Given the description of an element on the screen output the (x, y) to click on. 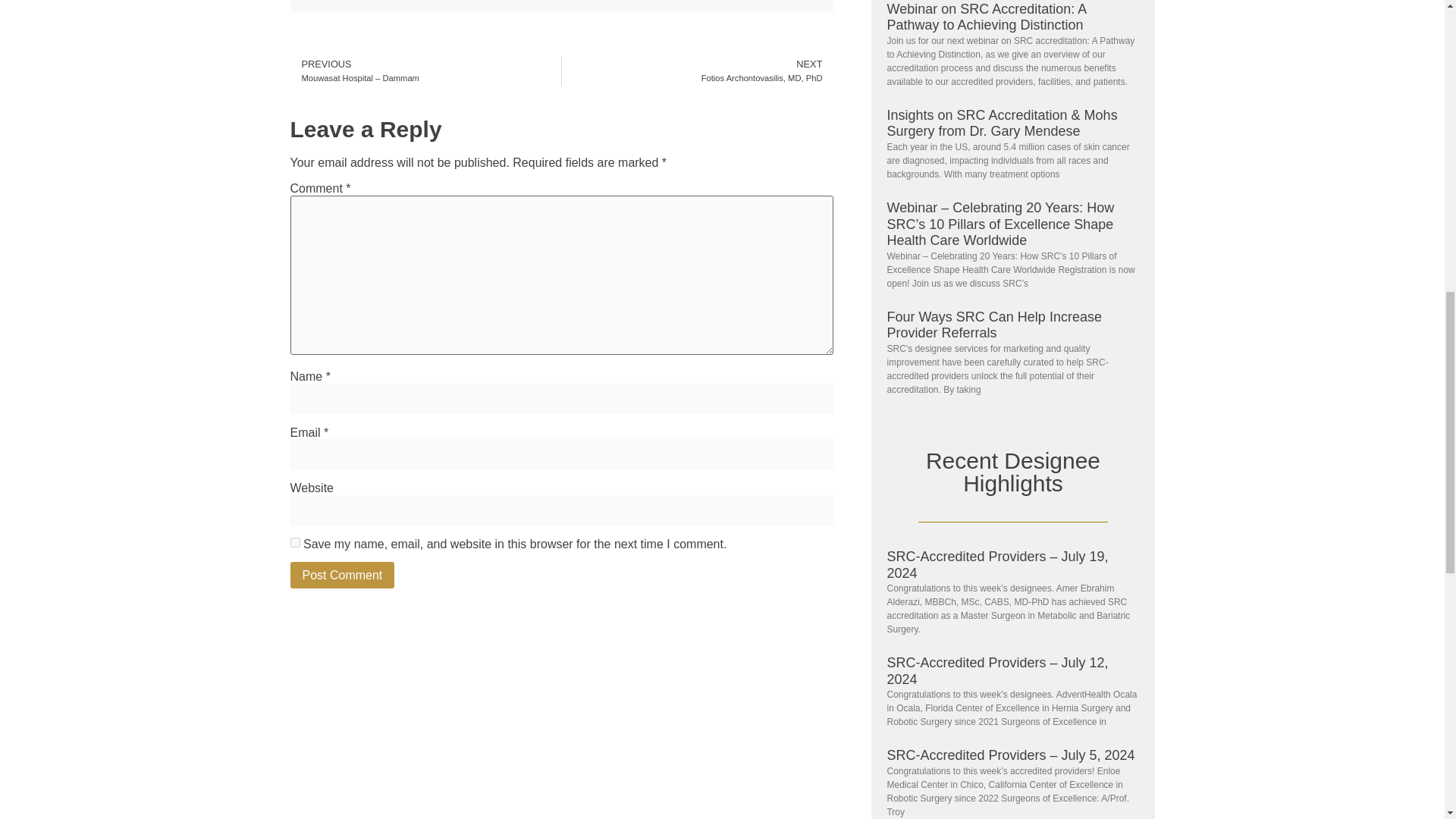
yes (294, 542)
Post Comment (697, 70)
Post Comment (341, 574)
